Given the description of an element on the screen output the (x, y) to click on. 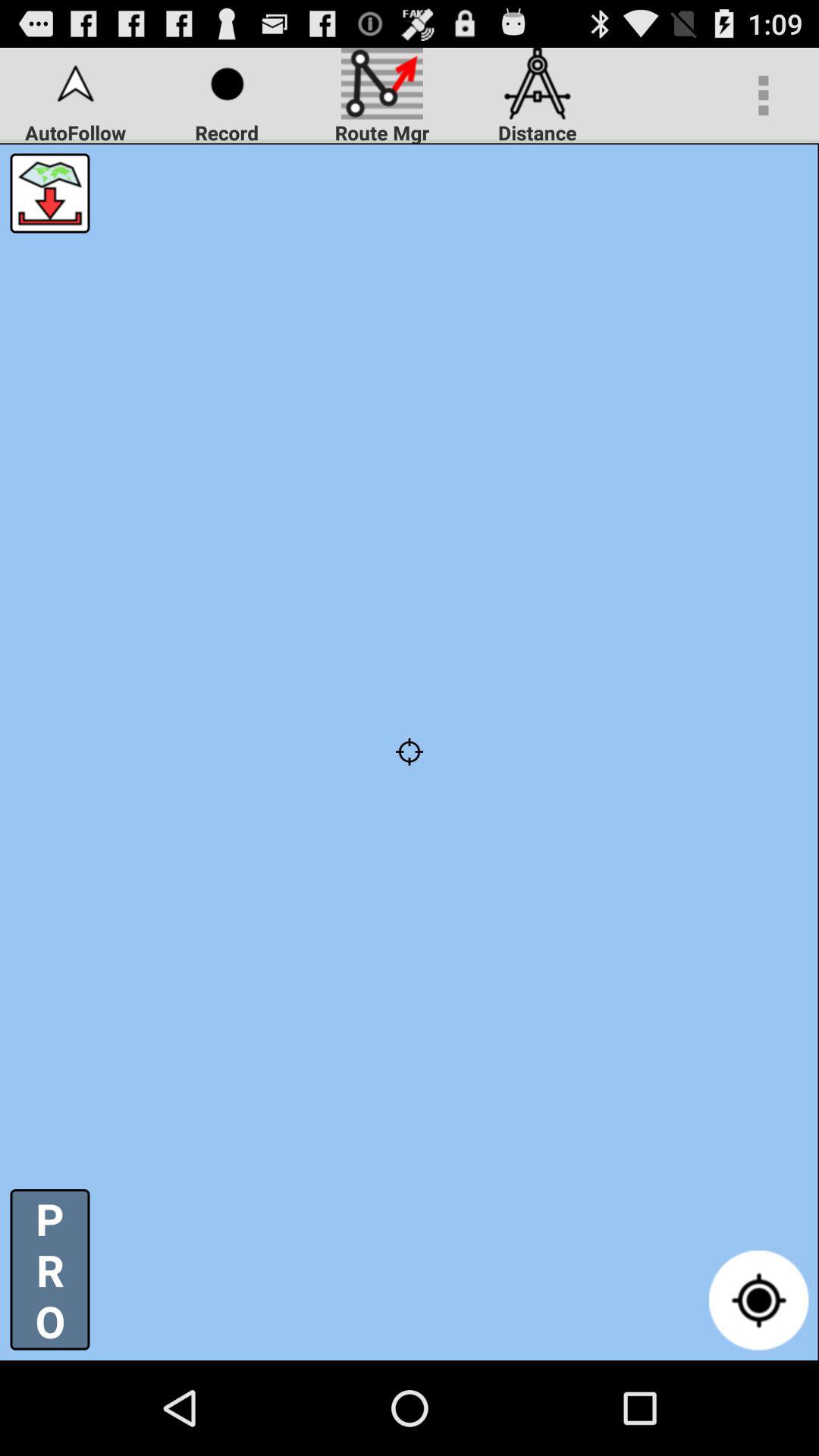
open icon above p
r
o button (49, 193)
